Given the description of an element on the screen output the (x, y) to click on. 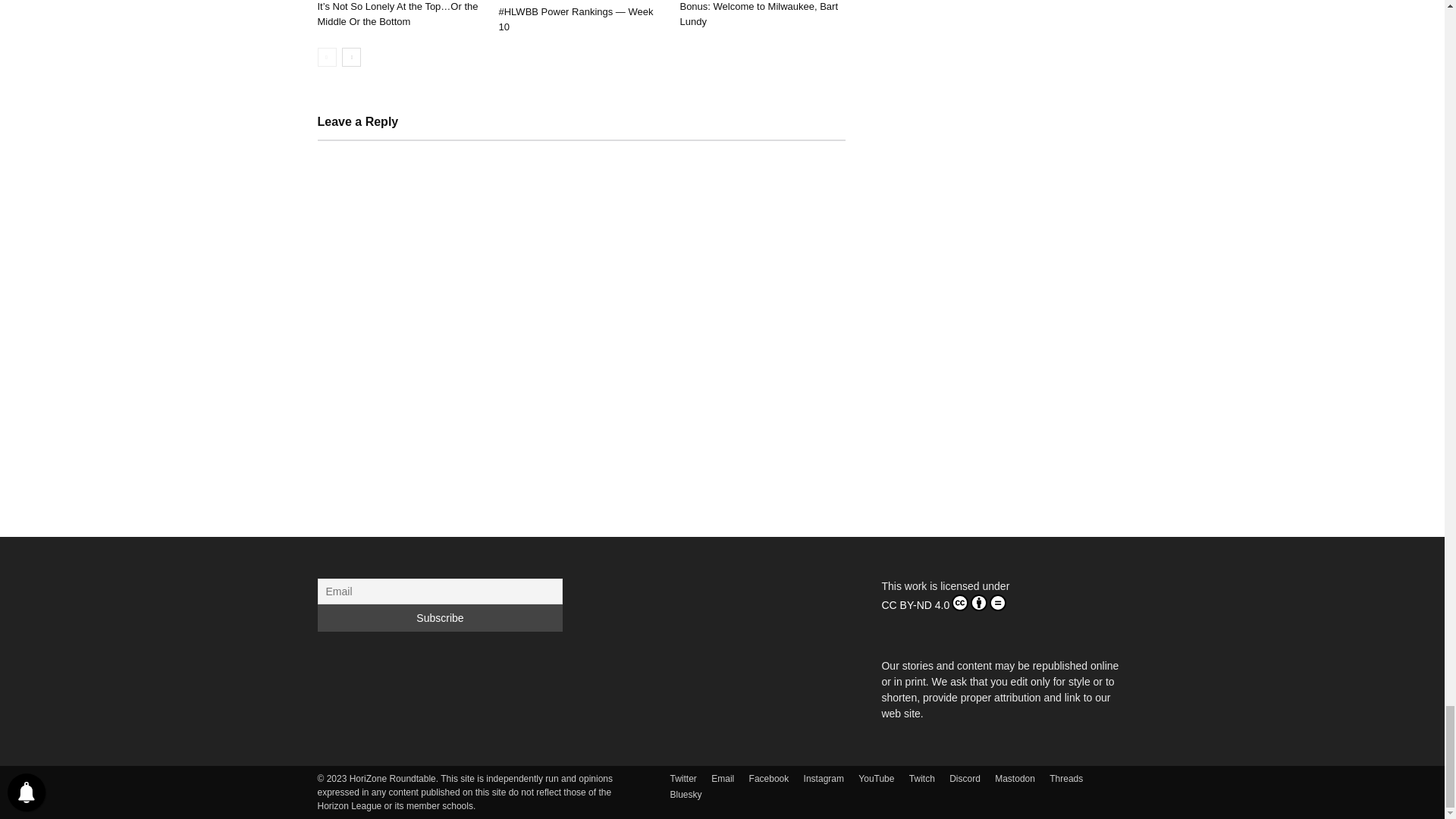
Subscribe (439, 617)
